Given the description of an element on the screen output the (x, y) to click on. 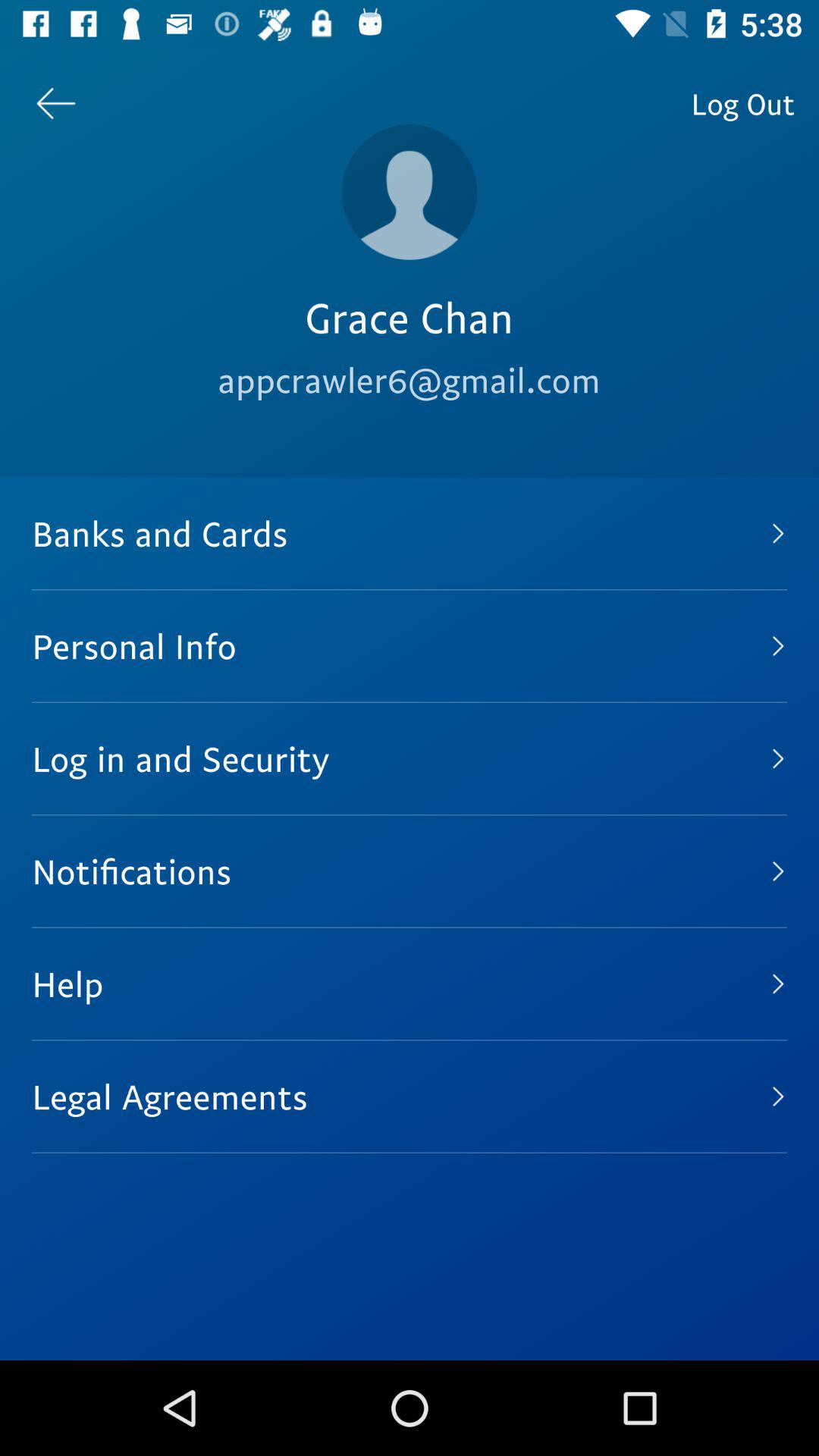
select the log out item (743, 103)
